Given the description of an element on the screen output the (x, y) to click on. 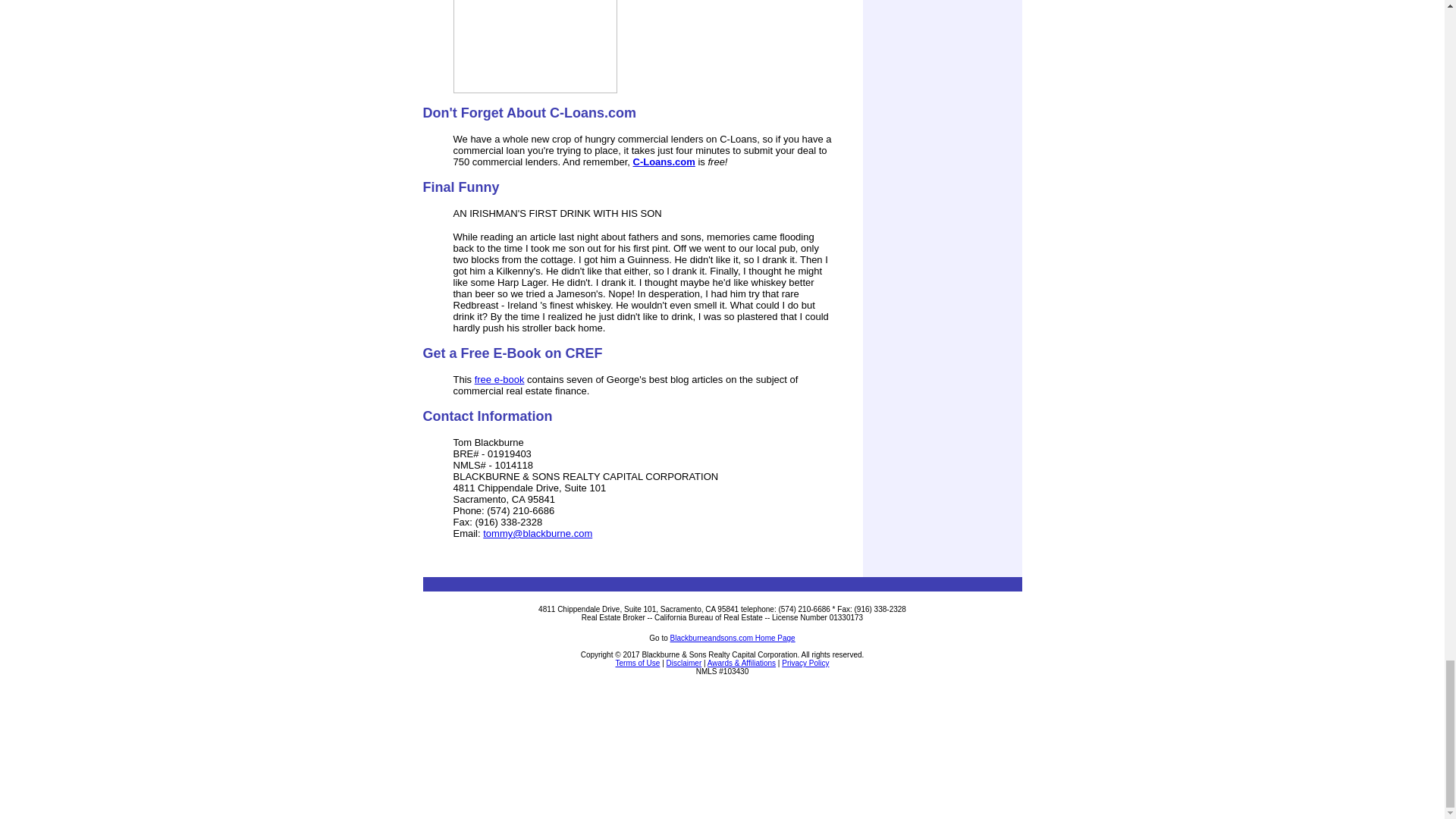
Learn CREF for free. (499, 378)
C-Loans.com (662, 161)
free e-book (499, 378)
